Given the description of an element on the screen output the (x, y) to click on. 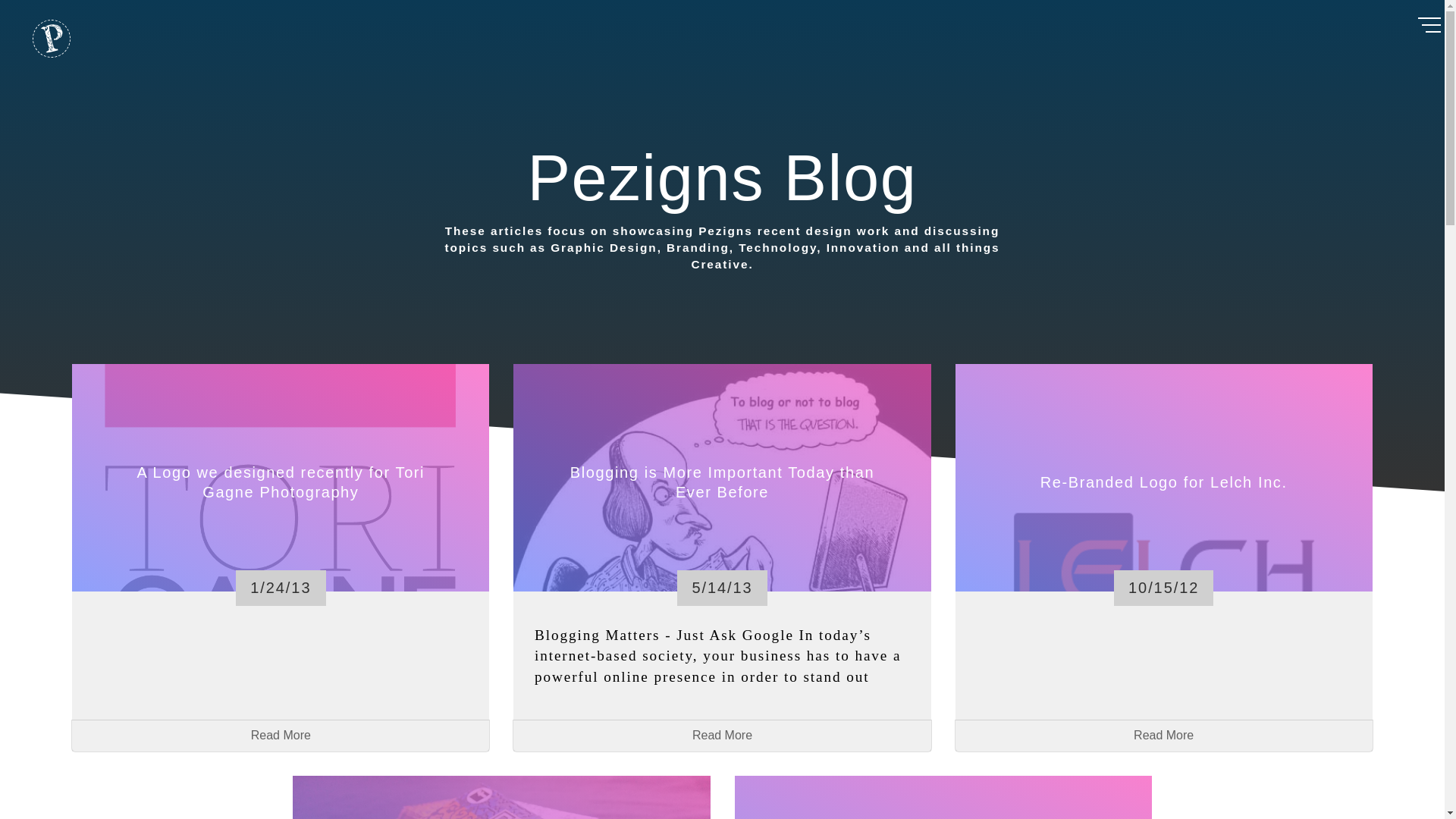
Read More (1164, 735)
Read More (280, 735)
Read More (721, 735)
